Given the description of an element on the screen output the (x, y) to click on. 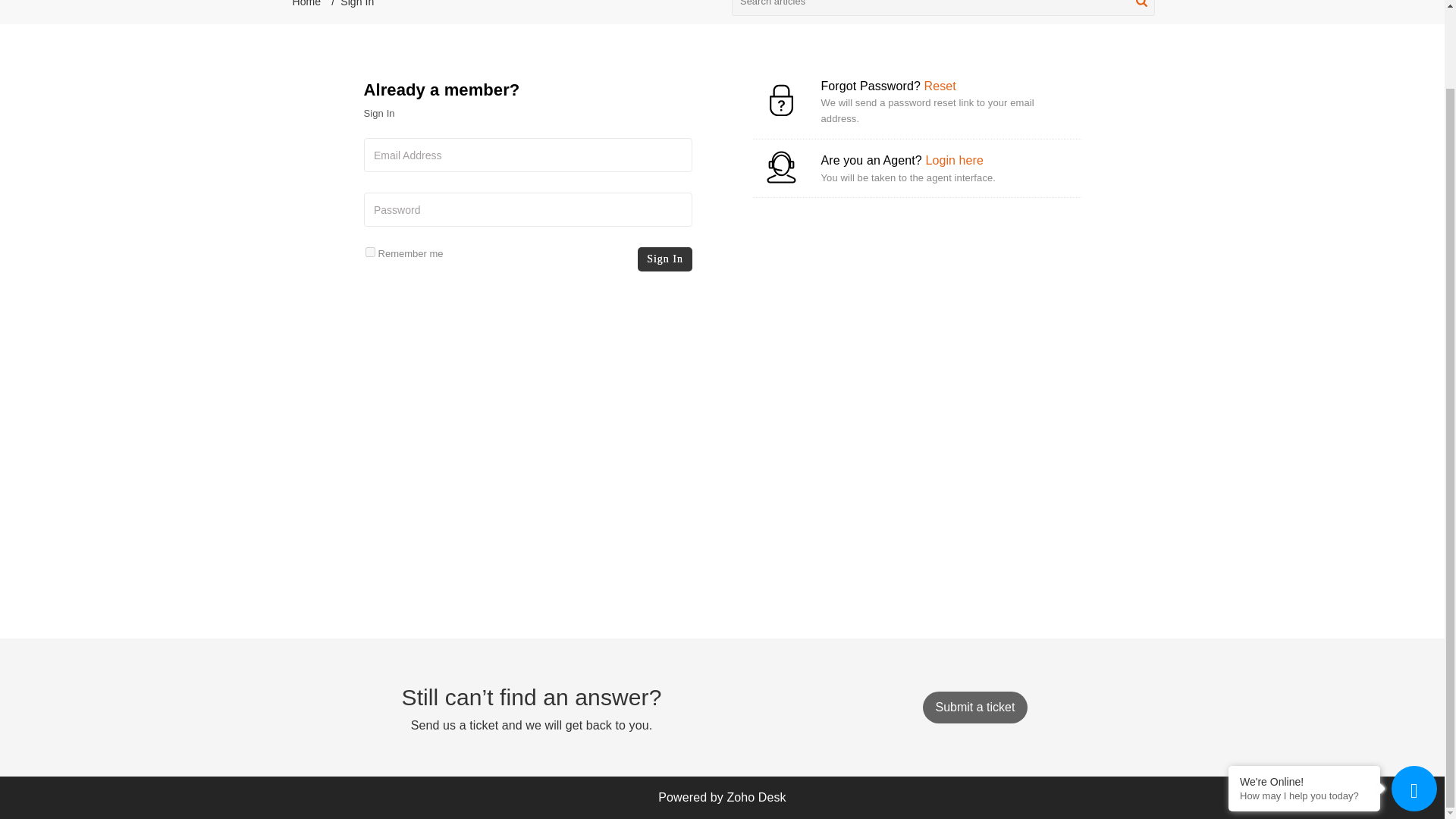
Home (306, 3)
Submit a ticket (974, 707)
Login here (954, 160)
We're Online! (1310, 693)
Submit a ticket (974, 707)
How may I help you today? (1307, 707)
Zoho Desk (756, 797)
Reset (939, 85)
